Given the description of an element on the screen output the (x, y) to click on. 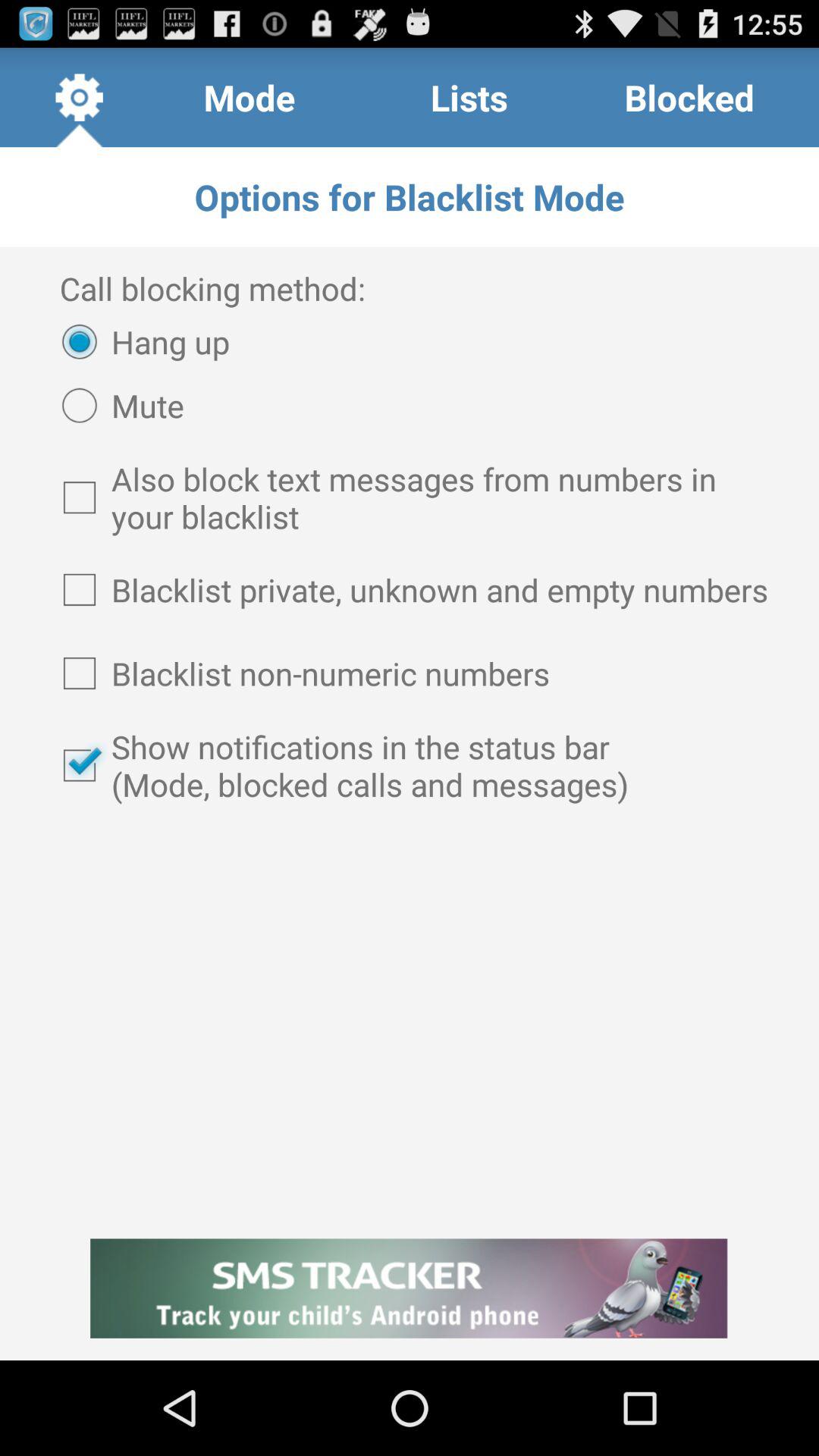
open also block text checkbox (409, 497)
